Given the description of an element on the screen output the (x, y) to click on. 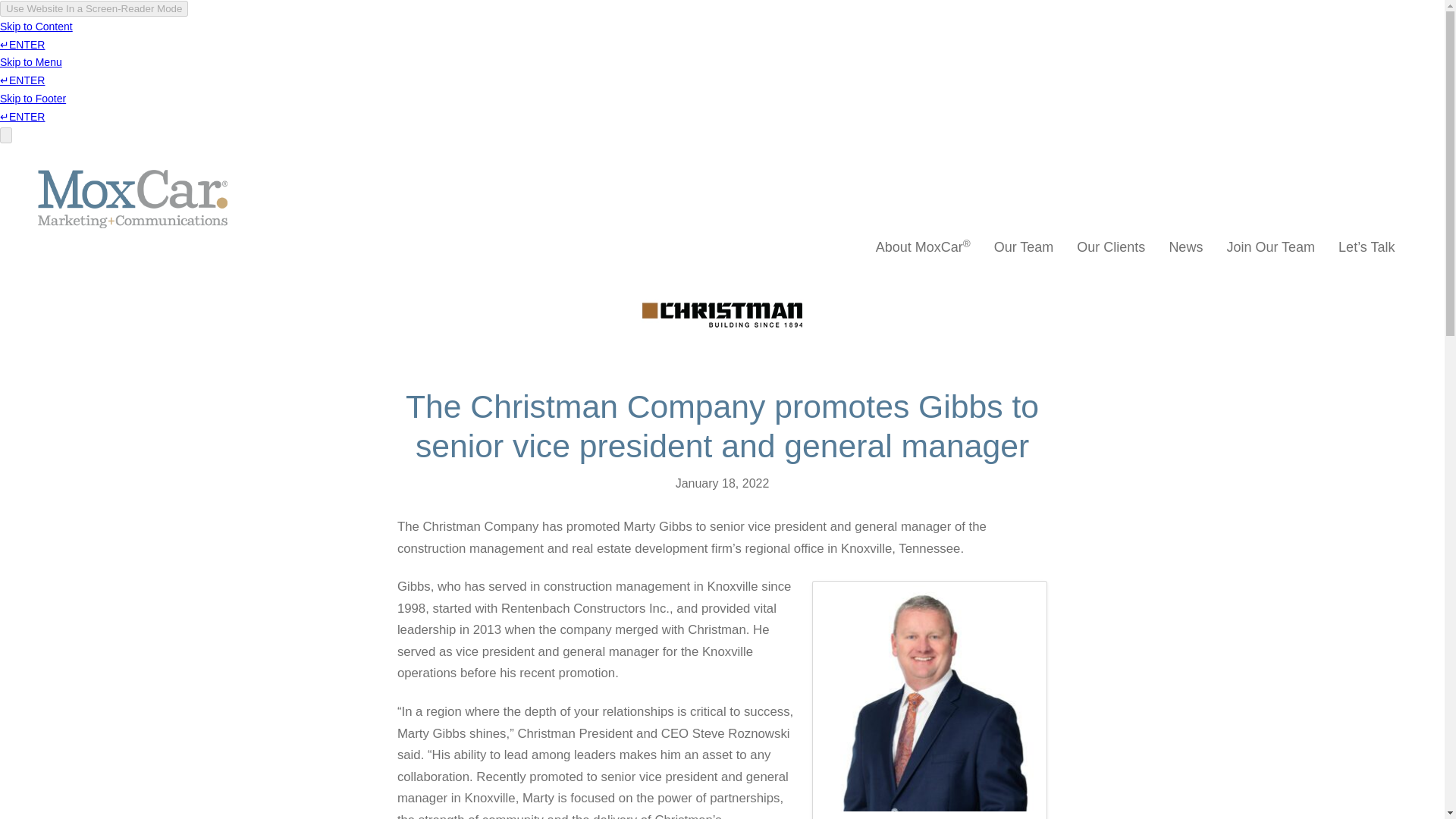
News (1185, 245)
Our Clients (1111, 245)
Our Team (1023, 245)
Join Our Team (1270, 245)
